Given the description of an element on the screen output the (x, y) to click on. 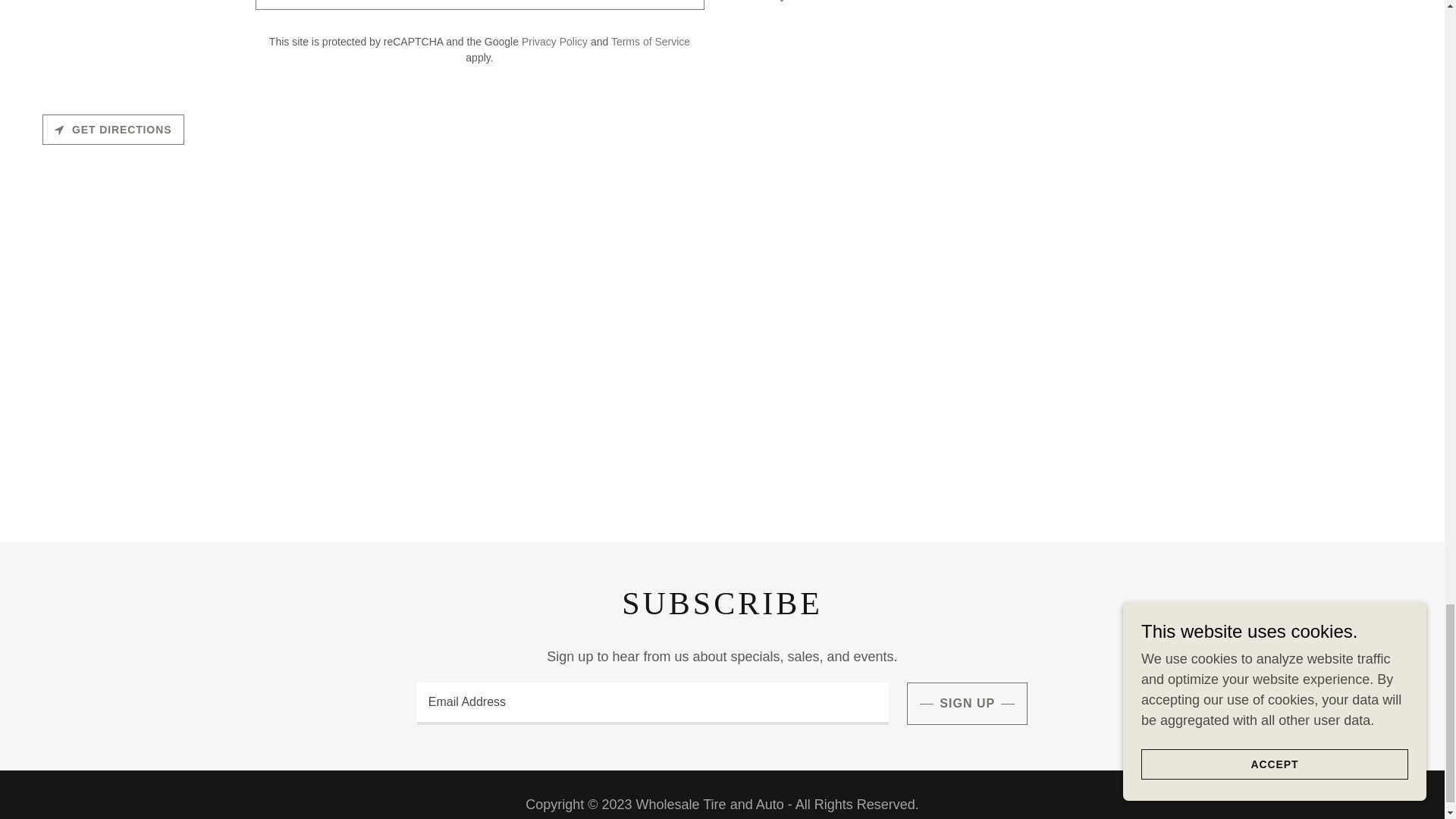
Terms of Service (650, 41)
SIGN UP (967, 703)
GET DIRECTIONS (113, 129)
SEND (478, 4)
Privacy Policy (554, 41)
